Given the description of an element on the screen output the (x, y) to click on. 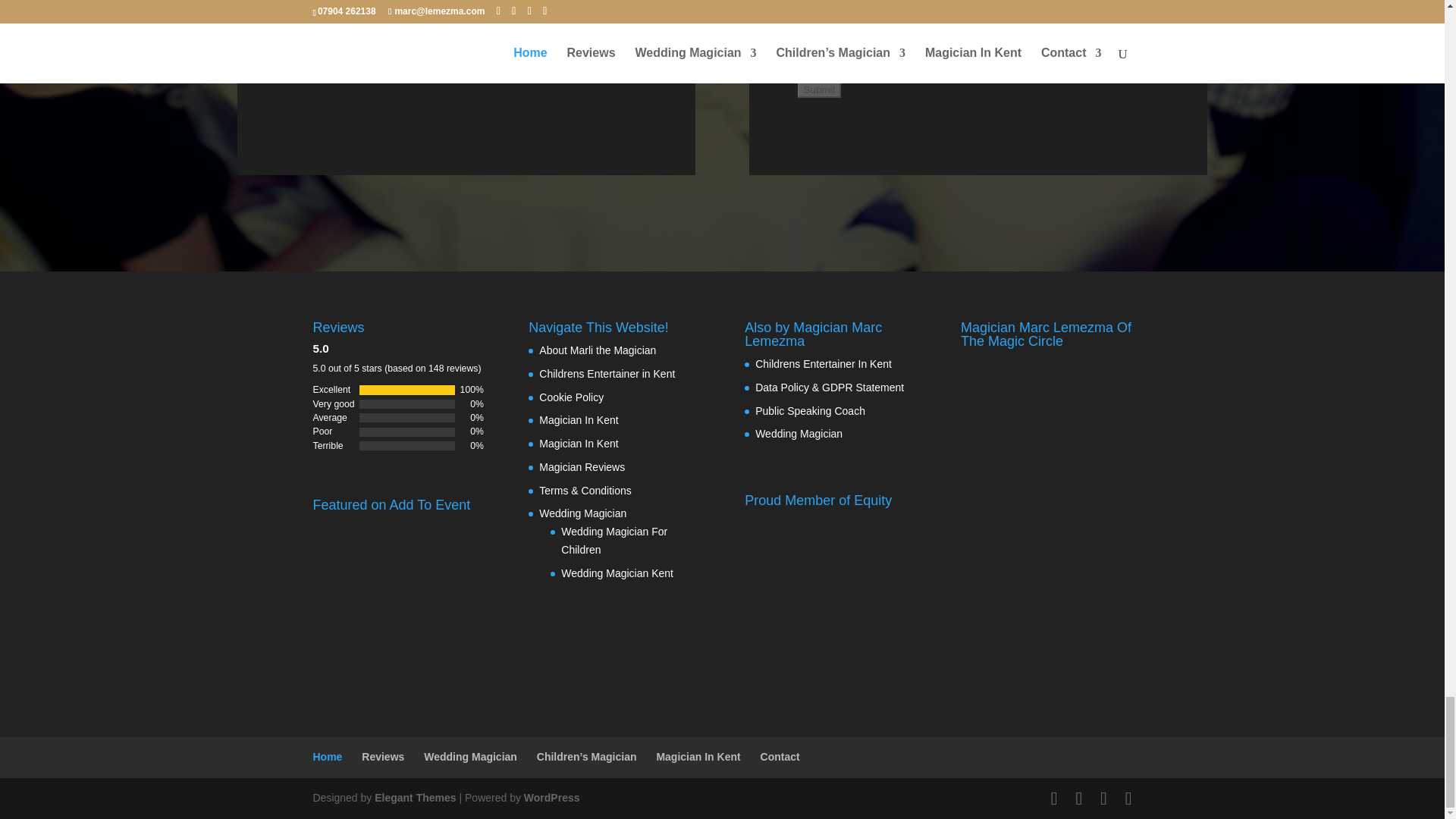
Submit (819, 89)
Wedding Magician  (799, 433)
Public Speaking and Communications Skills Coach  (809, 410)
